Given the description of an element on the screen output the (x, y) to click on. 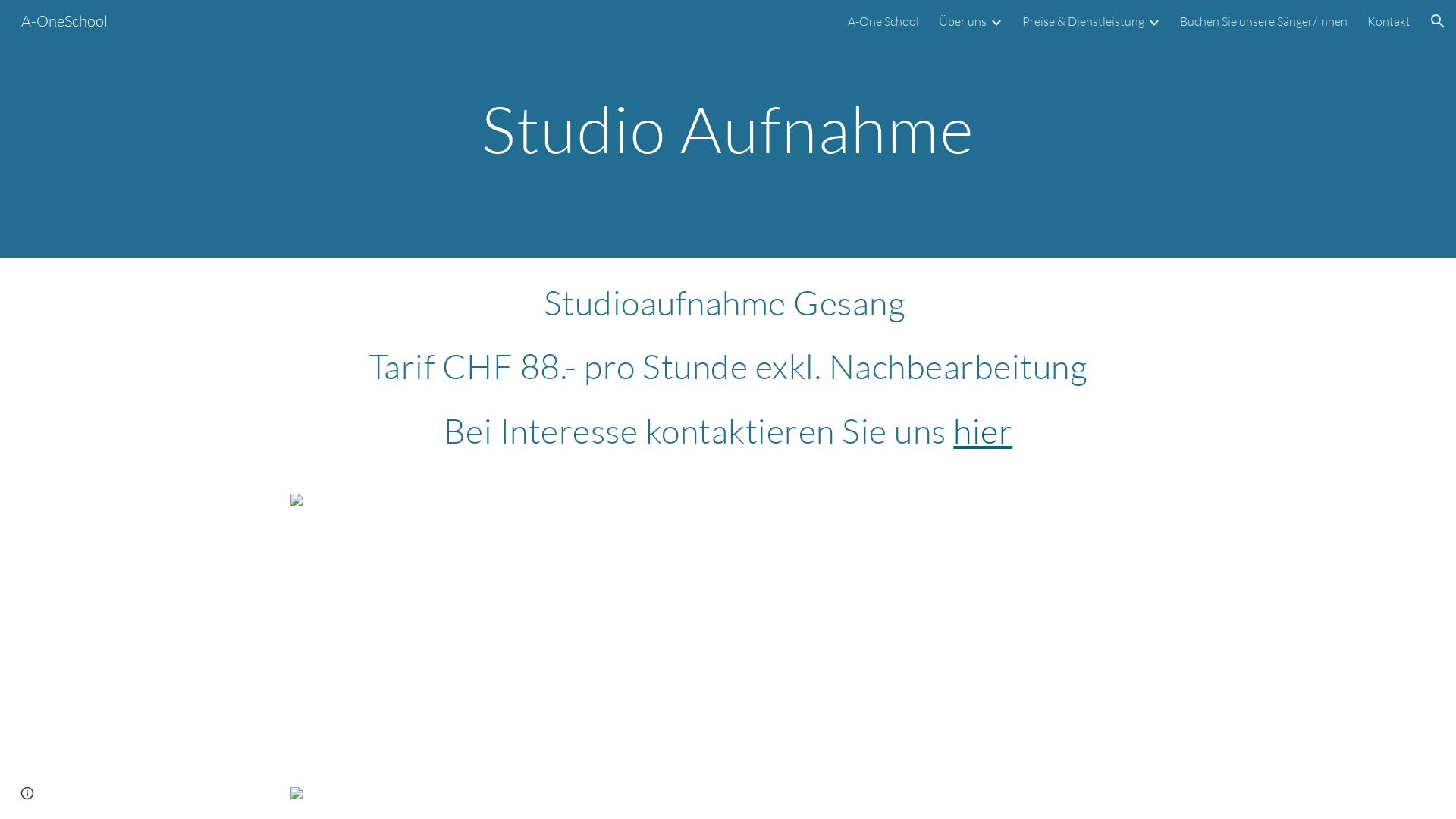
A-One School Element type: text (883, 20)
Kontakt Element type: text (1388, 20)
A-OneSchool Element type: text (64, 18)
hier Element type: text (982, 430)
Expand/Collapse Element type: hover (995, 20)
Preise & Dienstleistung Element type: text (1083, 20)
Expand/Collapse Element type: hover (1153, 20)
